Given the description of an element on the screen output the (x, y) to click on. 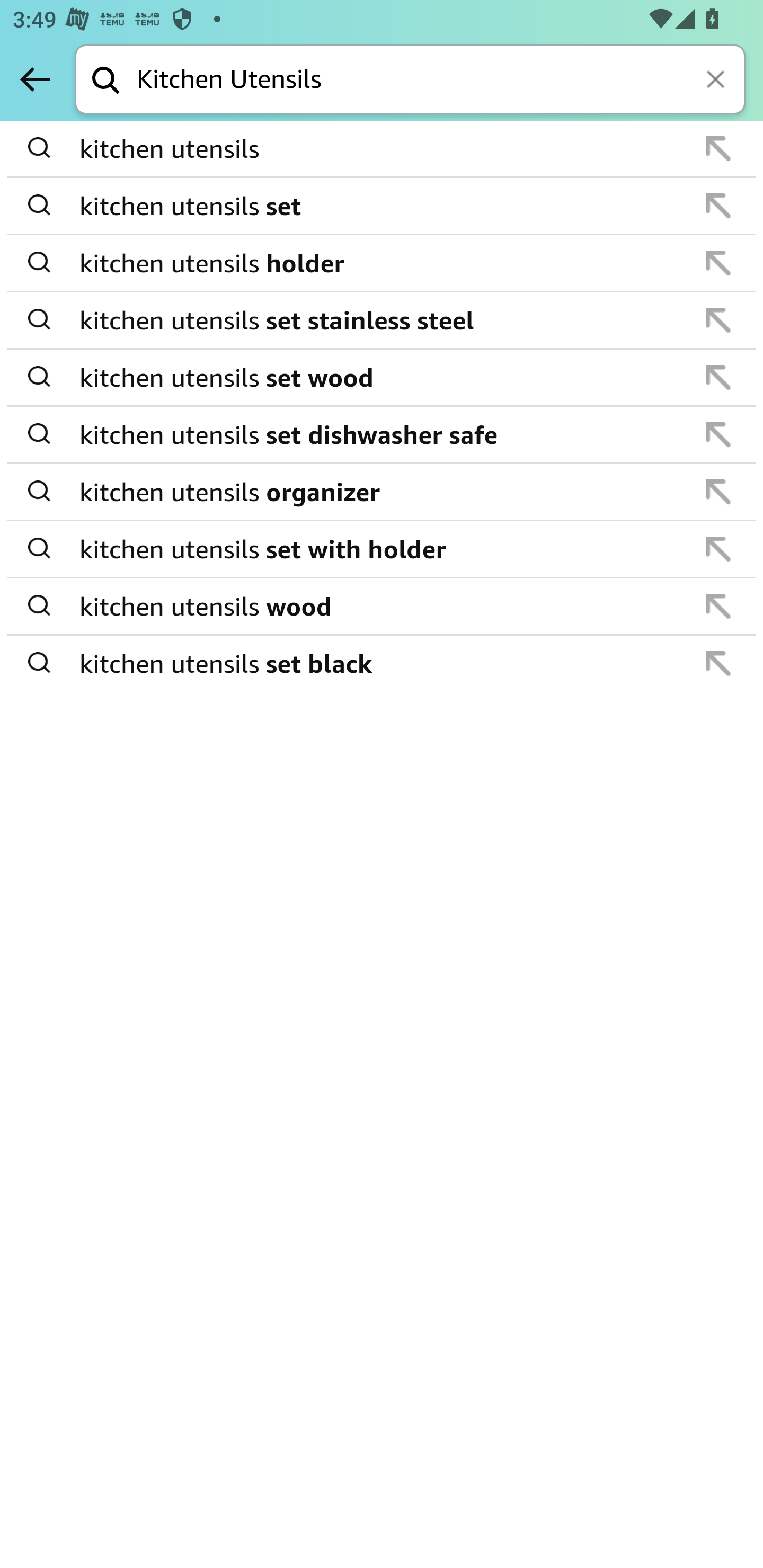
Kitchen Utensils (440, 80)
Clear search keywords (717, 80)
Back (35, 78)
append suggestion kitchen utensils (381, 149)
kitchen utensils (382, 149)
append suggestion (718, 147)
kitchen utensils set (382, 205)
append suggestion kitchen utensils set (381, 206)
append suggestion (718, 205)
kitchen utensils holder (382, 262)
append suggestion kitchen utensils holder (381, 263)
append suggestion (718, 262)
kitchen utensils set stainless steel (382, 319)
append suggestion (718, 319)
kitchen utensils set wood (382, 377)
append suggestion kitchen utensils set wood (381, 377)
append suggestion (718, 376)
kitchen utensils set dishwasher safe (382, 434)
append suggestion (718, 434)
kitchen utensils organizer (382, 491)
append suggestion kitchen utensils organizer (381, 492)
append suggestion (718, 491)
kitchen utensils set with holder (382, 548)
append suggestion kitchen utensils set with holder (381, 549)
append suggestion (718, 548)
kitchen utensils wood (382, 606)
append suggestion kitchen utensils wood (381, 606)
append suggestion (718, 605)
kitchen utensils set black (382, 662)
append suggestion kitchen utensils set black (381, 663)
append suggestion (718, 663)
